Given the description of an element on the screen output the (x, y) to click on. 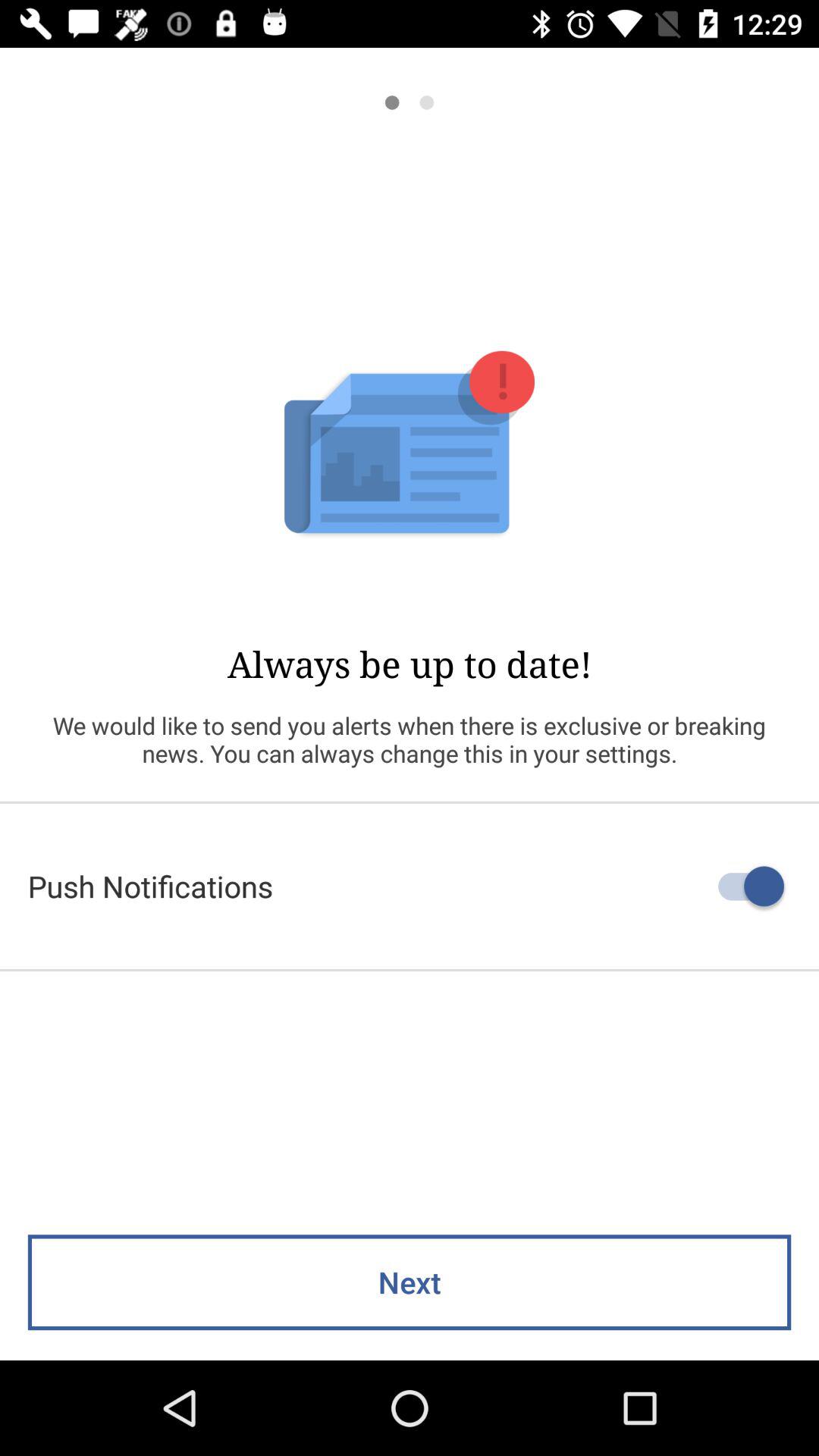
jump until push notifications (409, 886)
